Given the description of an element on the screen output the (x, y) to click on. 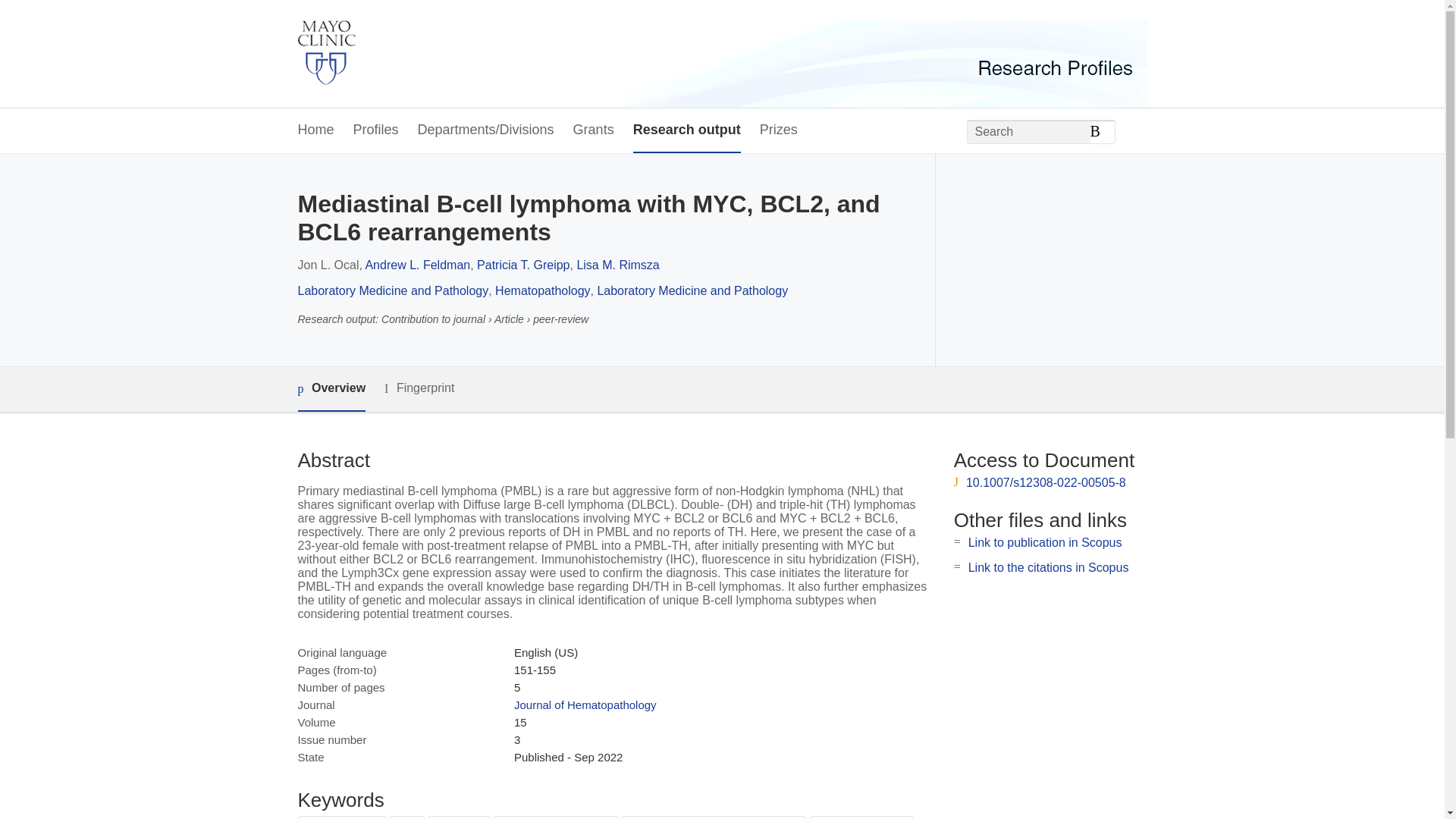
Patricia T. Greipp (523, 264)
Link to publication in Scopus (1045, 542)
Hematopathology (542, 290)
Journal of Hematopathology (584, 704)
Overview (331, 388)
Laboratory Medicine and Pathology (392, 290)
Research output (687, 130)
Andrew L. Feldman (417, 264)
Laboratory Medicine and Pathology (691, 290)
